Given the description of an element on the screen output the (x, y) to click on. 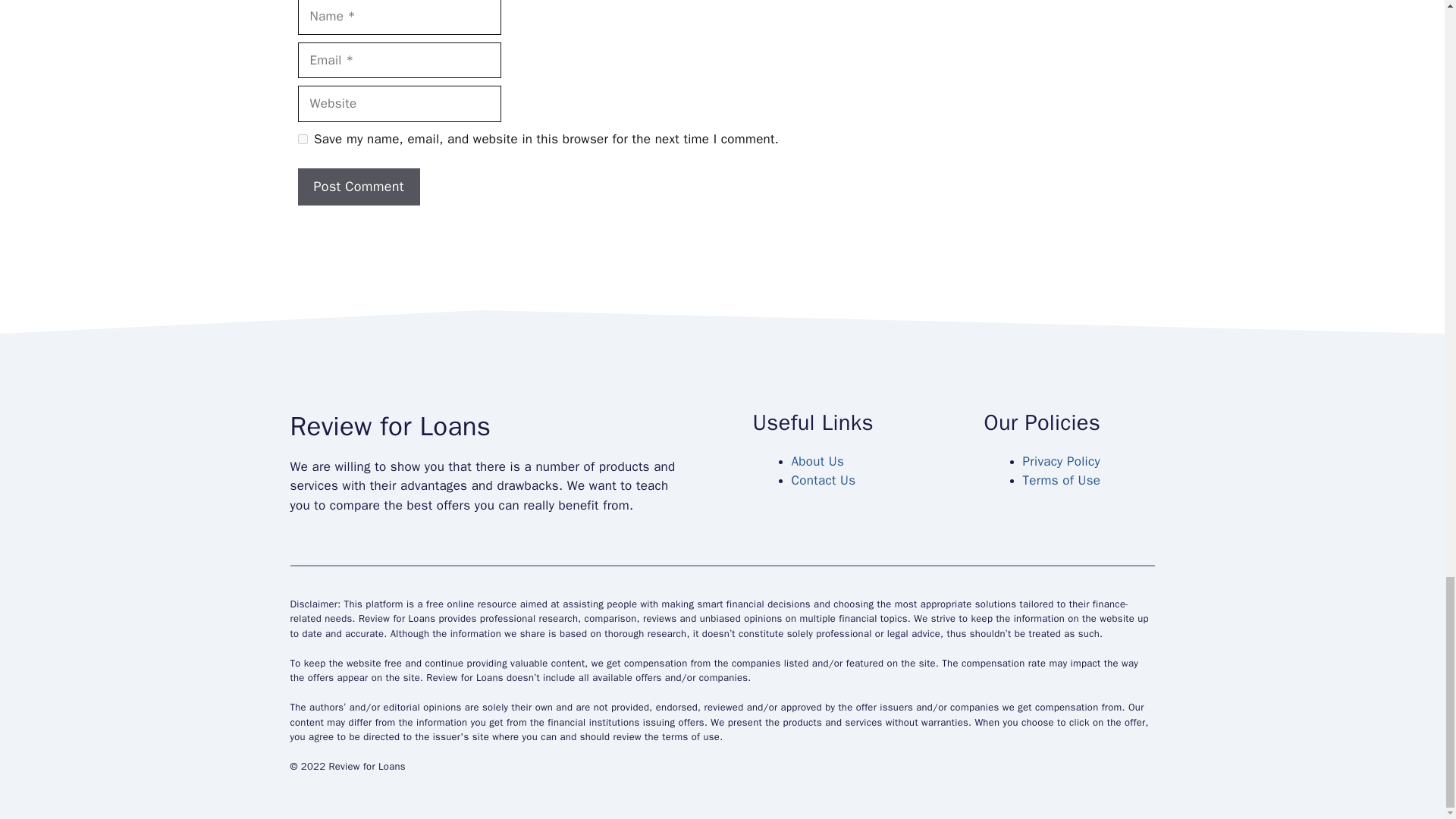
yes (302, 139)
About Us (818, 461)
Privacy Policy (1060, 461)
Post Comment (358, 186)
Terms of Use (1061, 480)
Post Comment (358, 186)
Contact Us (824, 480)
